Given the description of an element on the screen output the (x, y) to click on. 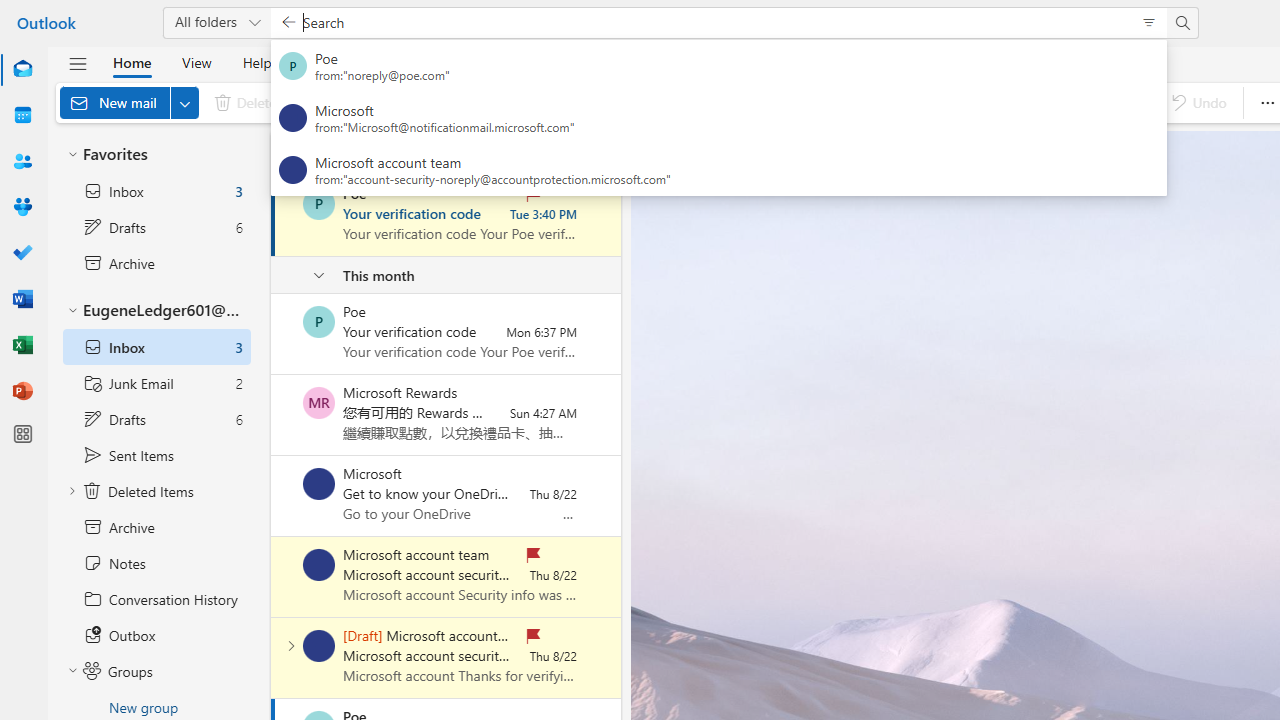
Select a conversation (319, 645)
Exit search (288, 22)
PowerPoint (22, 391)
Microsoft Rewards (319, 403)
Focused (372, 152)
Mail (22, 69)
View (196, 61)
Expand to see more respond options (699, 102)
Move to (538, 102)
Reply all (654, 102)
Search filters, All folders, 0 other filters applied (1148, 22)
Expand to see flag options (985, 102)
